Given the description of an element on the screen output the (x, y) to click on. 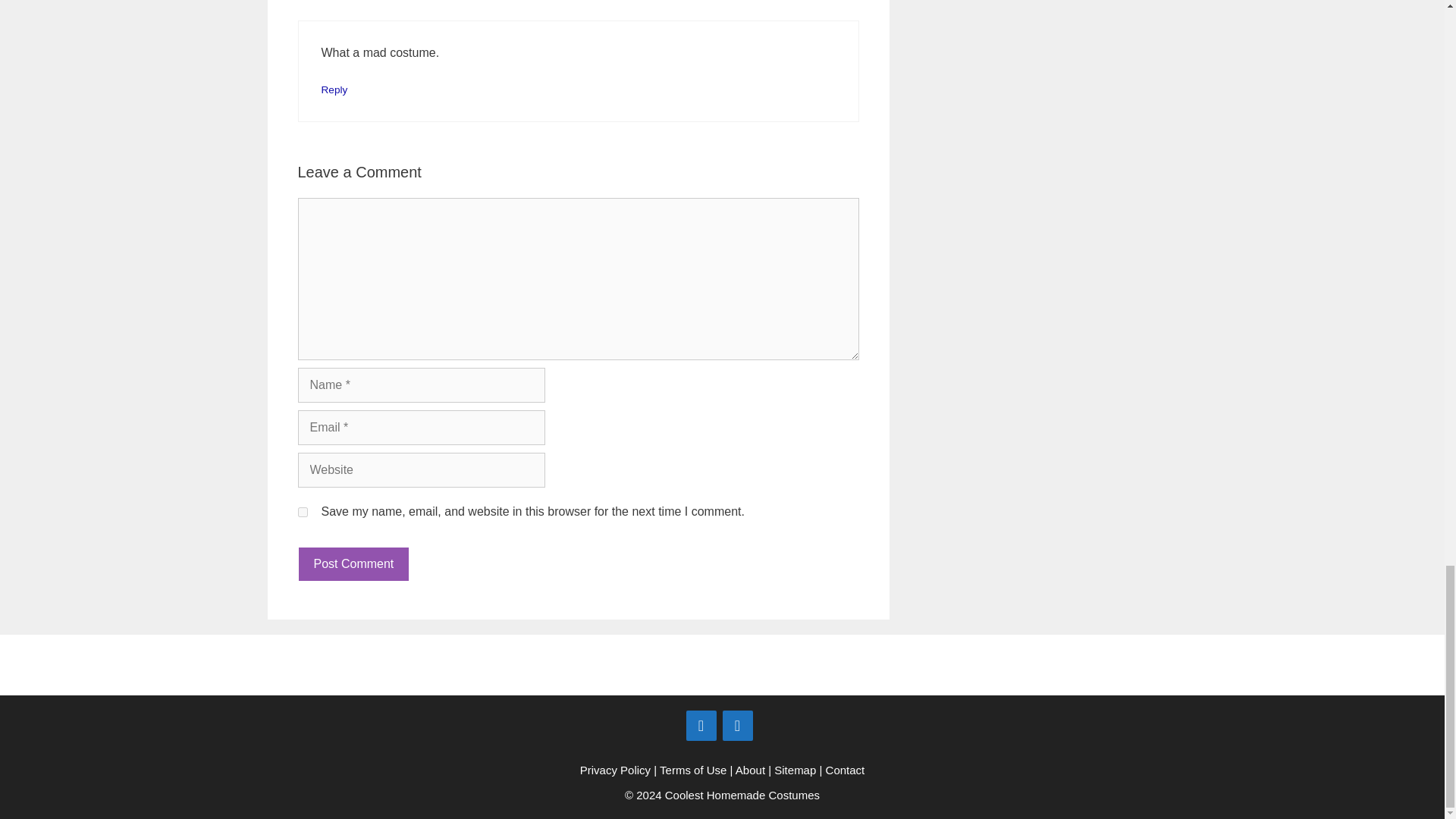
Instagram (737, 725)
Facebook (700, 725)
yes (302, 511)
Post Comment (353, 564)
